Given the description of an element on the screen output the (x, y) to click on. 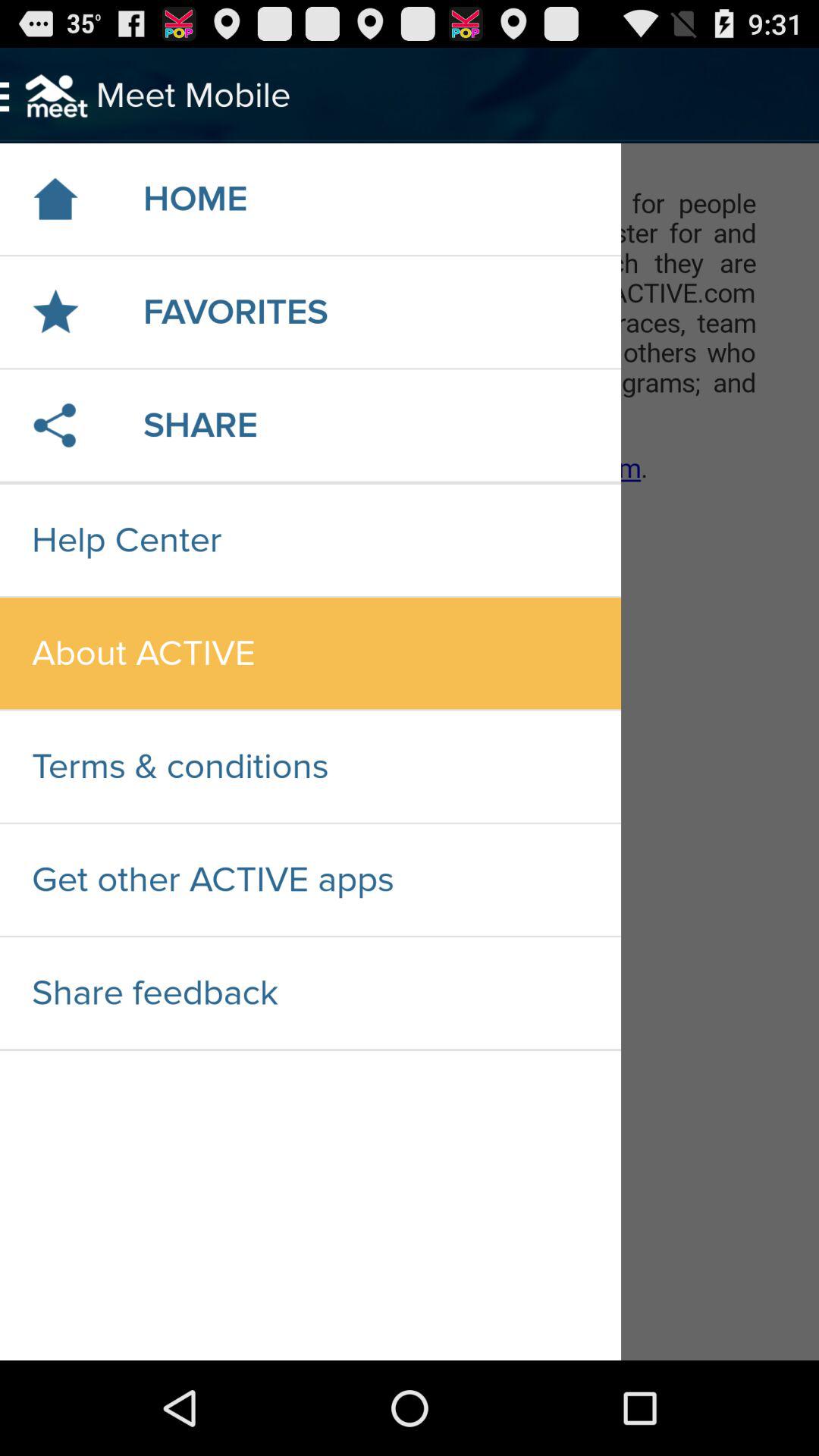
launch the favorites icon (235, 311)
